Given the description of an element on the screen output the (x, y) to click on. 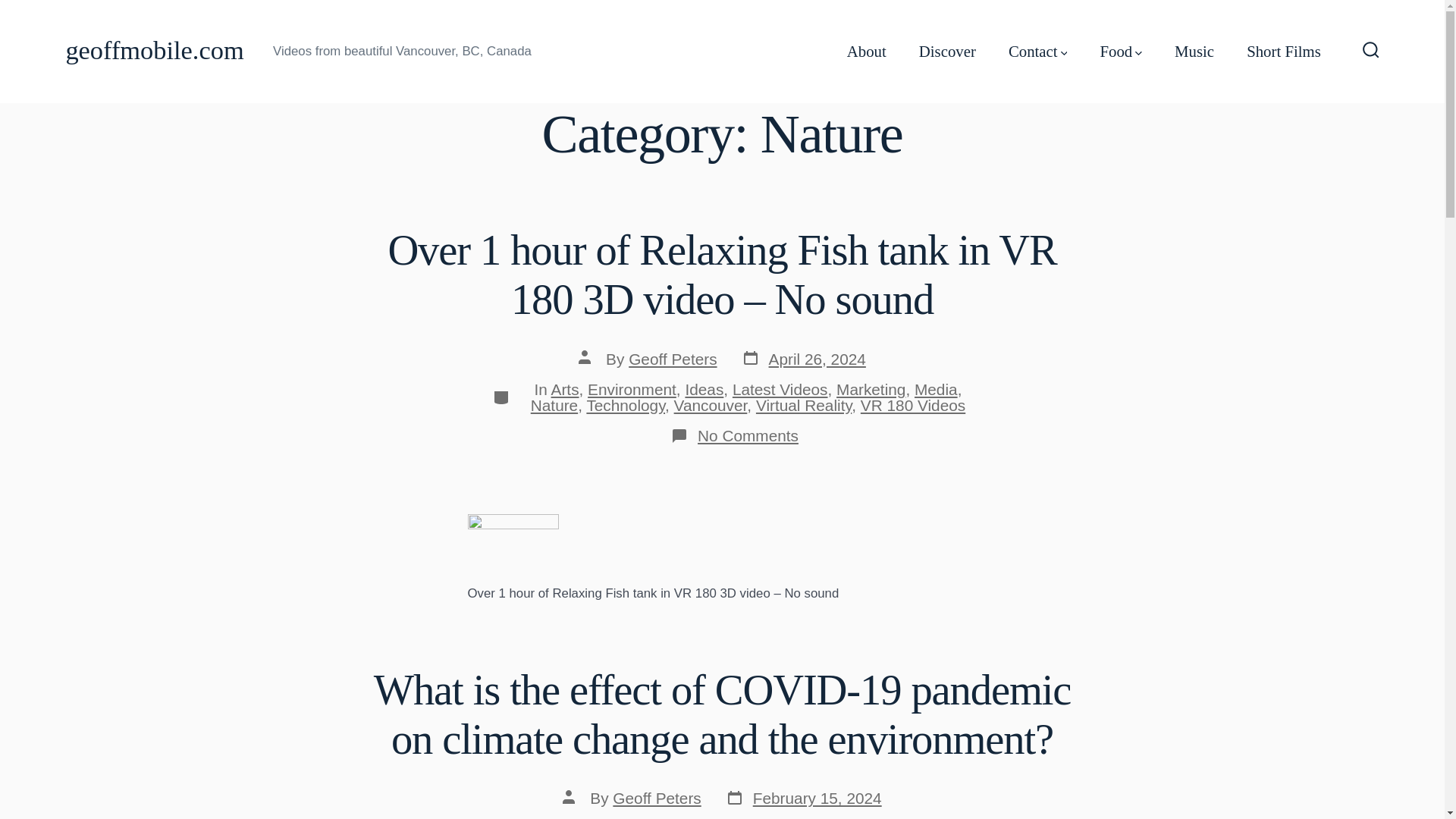
geoffmobile.com (154, 51)
Latest Videos (780, 389)
Ideas (703, 389)
Virtual Reality (803, 405)
Environment (632, 389)
Geoff Peters (803, 798)
Media (672, 358)
About (936, 389)
Geoff Peters (866, 51)
